Given the description of an element on the screen output the (x, y) to click on. 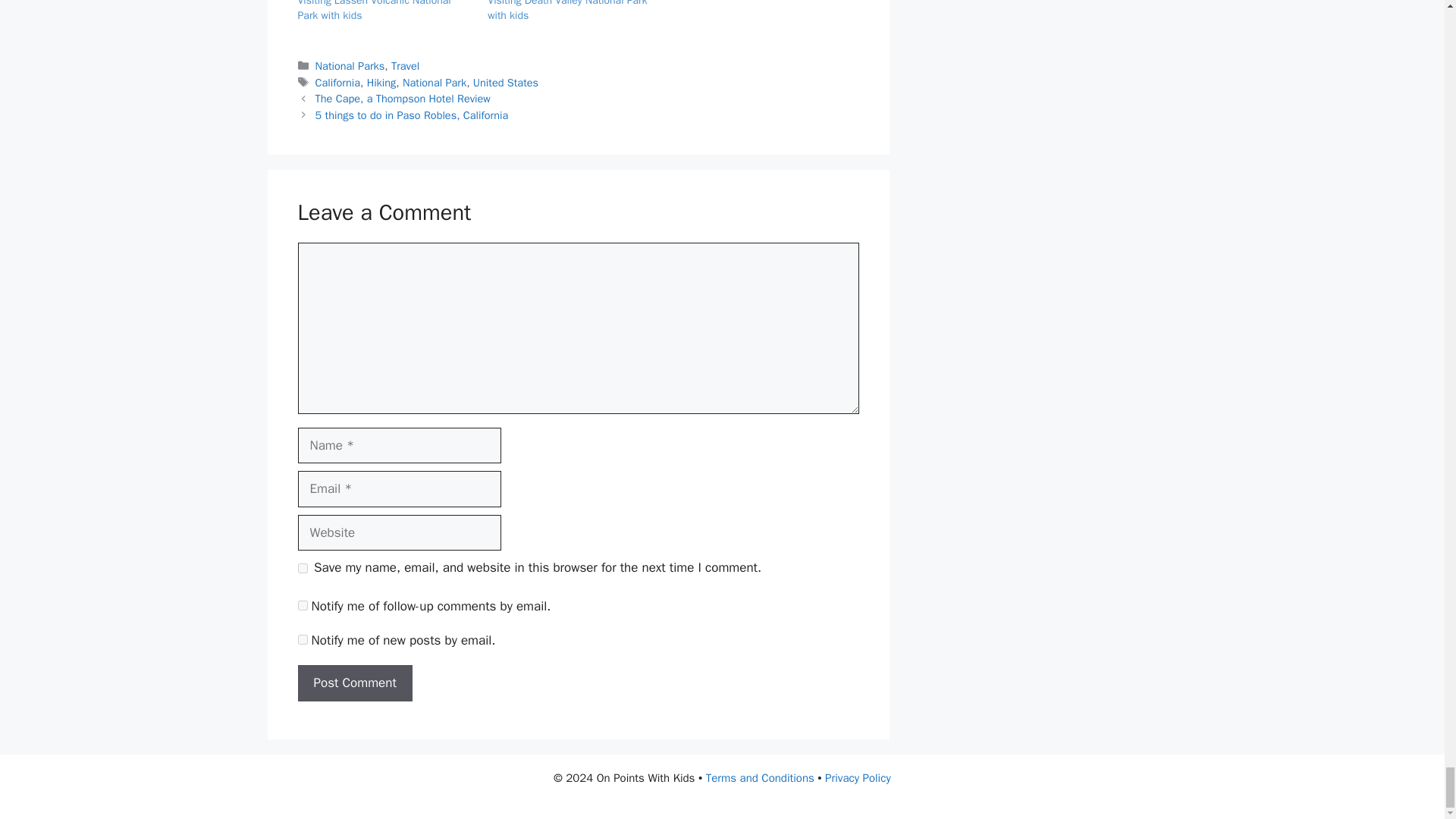
Post Comment (354, 683)
Visiting Lassen Volcanic National Park with kids (373, 11)
California (337, 82)
National Parks (350, 65)
yes (302, 568)
subscribe (302, 639)
Travel (405, 65)
Visiting Death Valley National Park with kids (566, 11)
subscribe (302, 605)
